Given the description of an element on the screen output the (x, y) to click on. 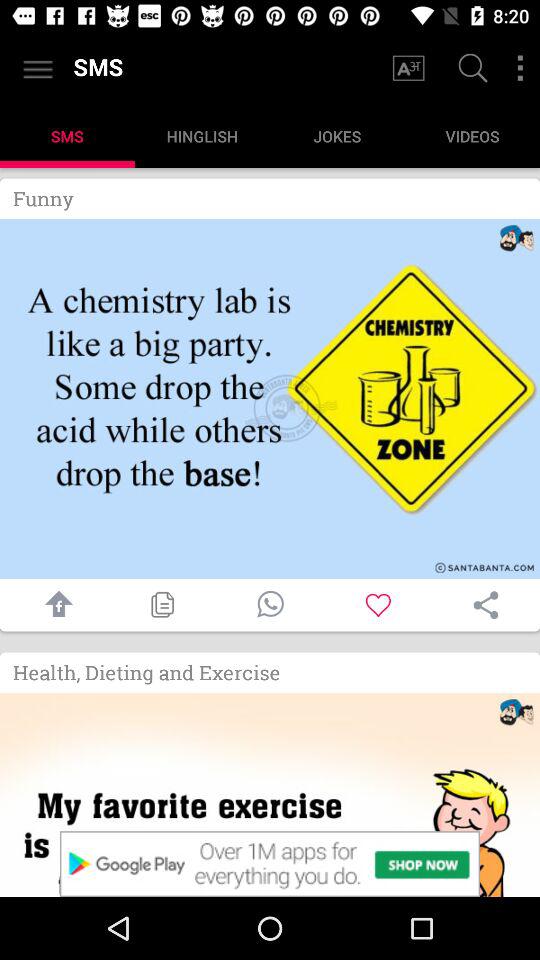
shop the app store (270, 795)
